Given the description of an element on the screen output the (x, y) to click on. 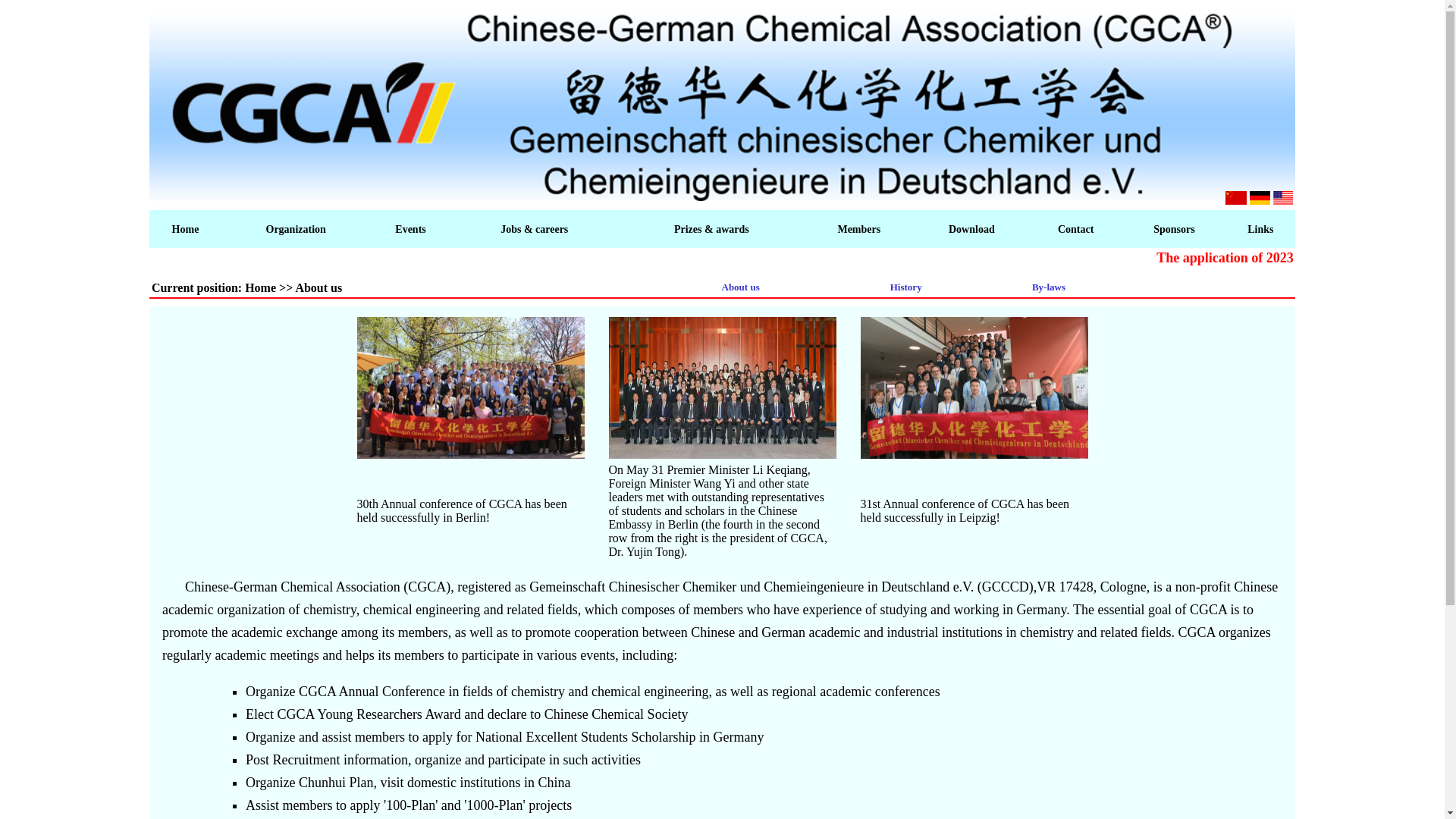
Download (971, 229)
Links (1259, 229)
Sponsors (1173, 229)
Organization (294, 229)
The 10th CGCA-EAST Annual Conference was held. (469, 387)
Members (858, 229)
History (905, 286)
By-laws (1048, 286)
Contact (1075, 229)
About us (741, 286)
Events (409, 229)
Home (185, 229)
